Given the description of an element on the screen output the (x, y) to click on. 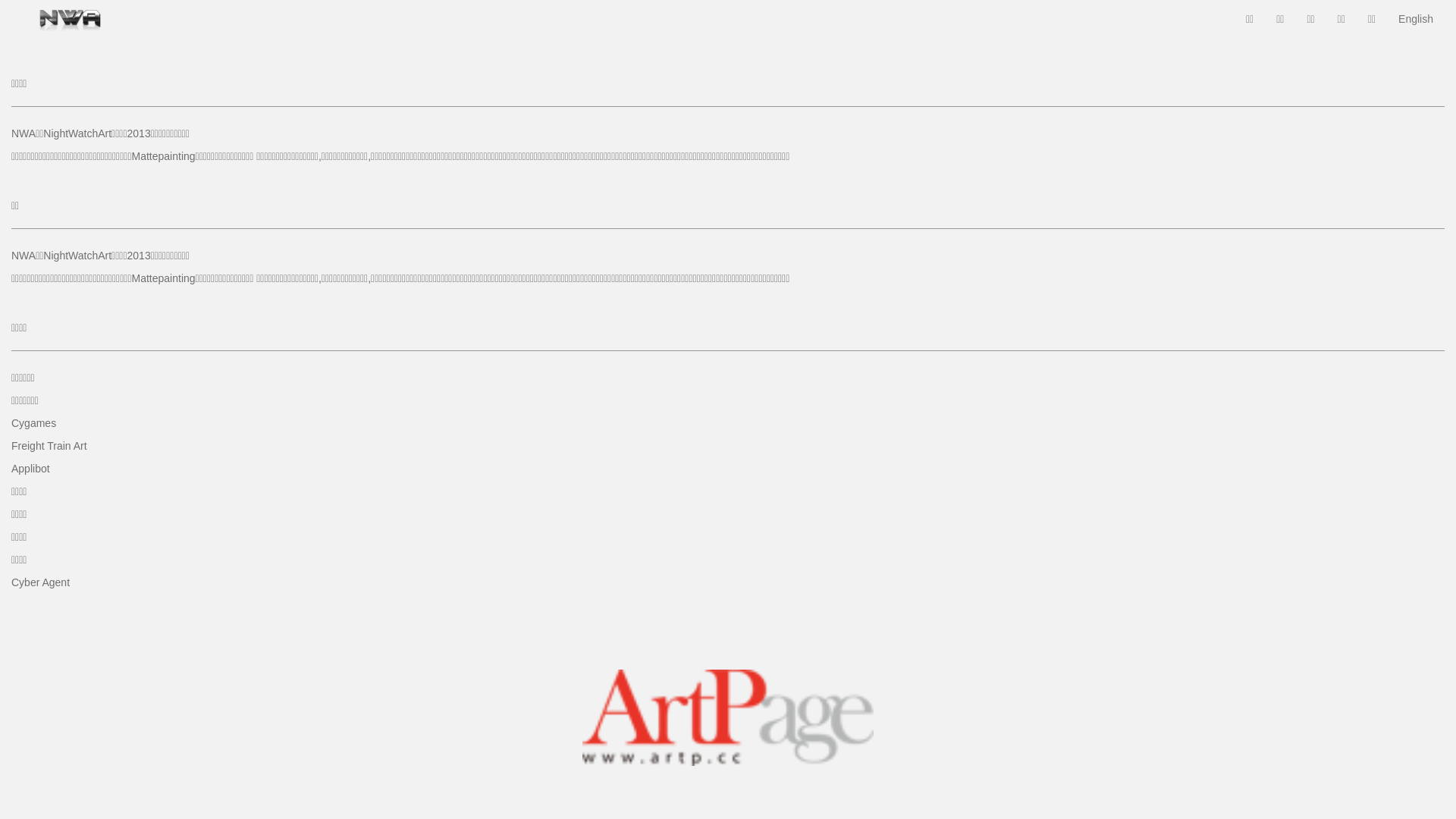
English Element type: text (1415, 18)
